Given the description of an element on the screen output the (x, y) to click on. 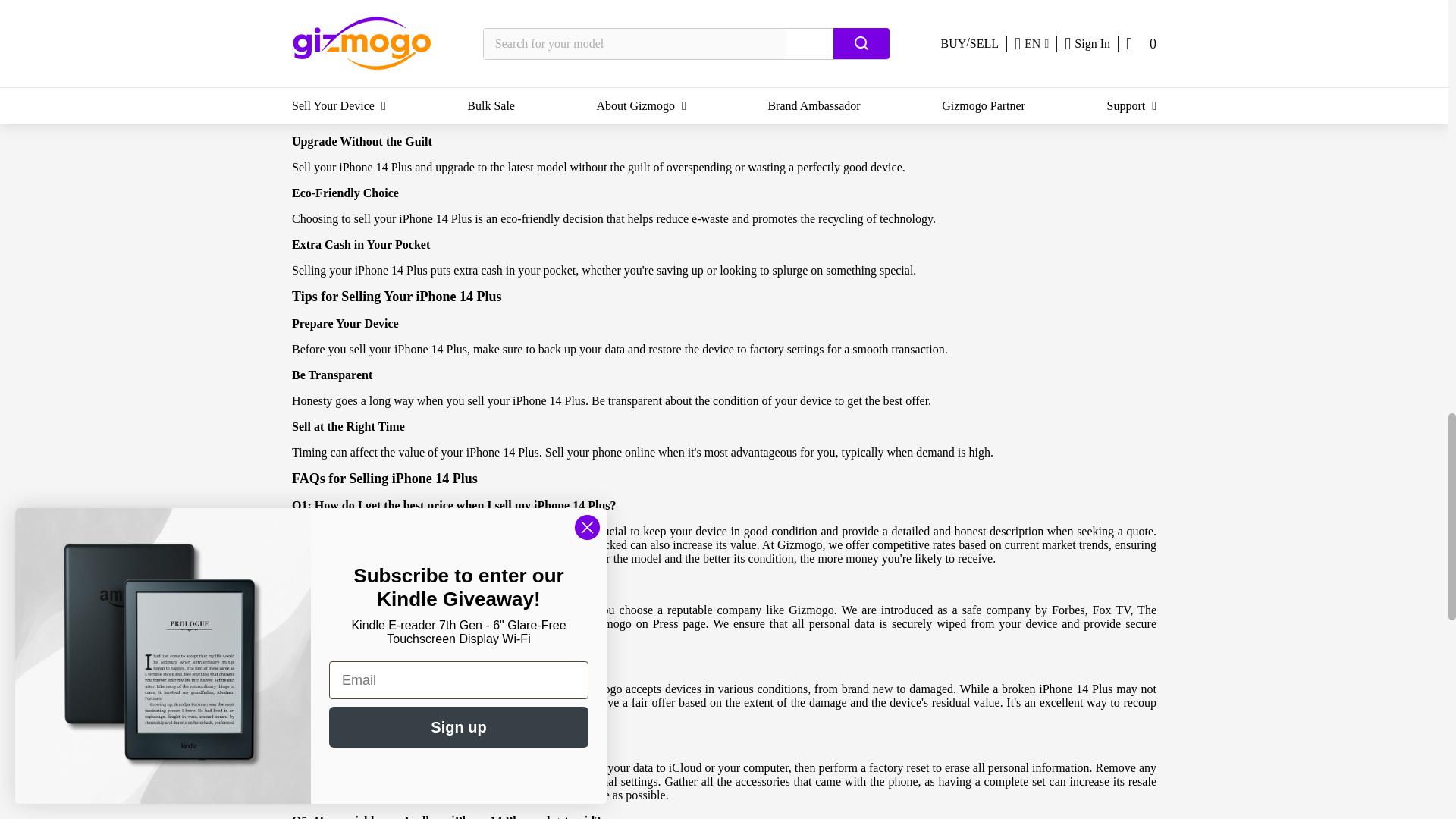
Gizmogo on Press (632, 623)
